Given the description of an element on the screen output the (x, y) to click on. 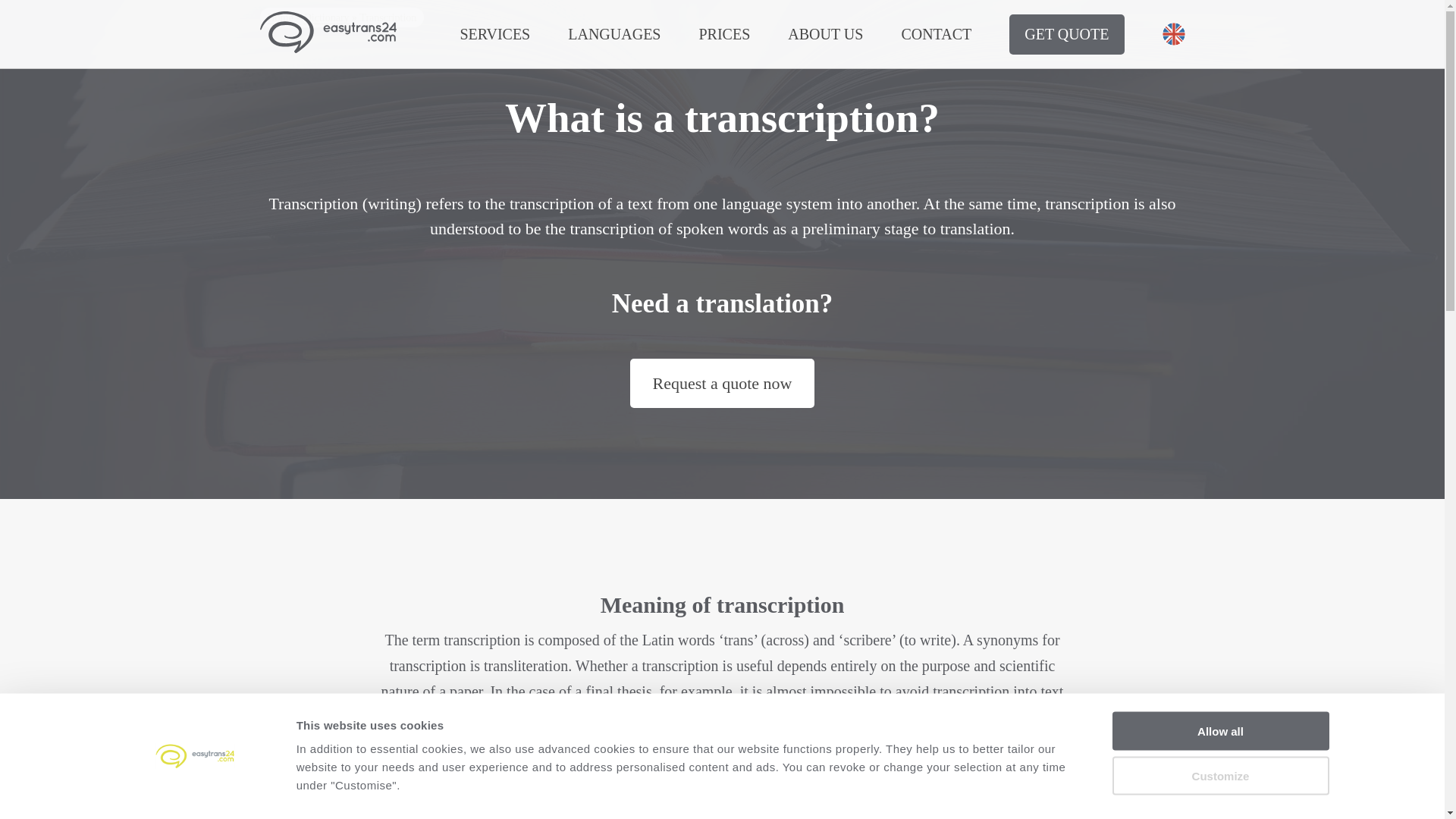
English (1173, 33)
